Given the description of an element on the screen output the (x, y) to click on. 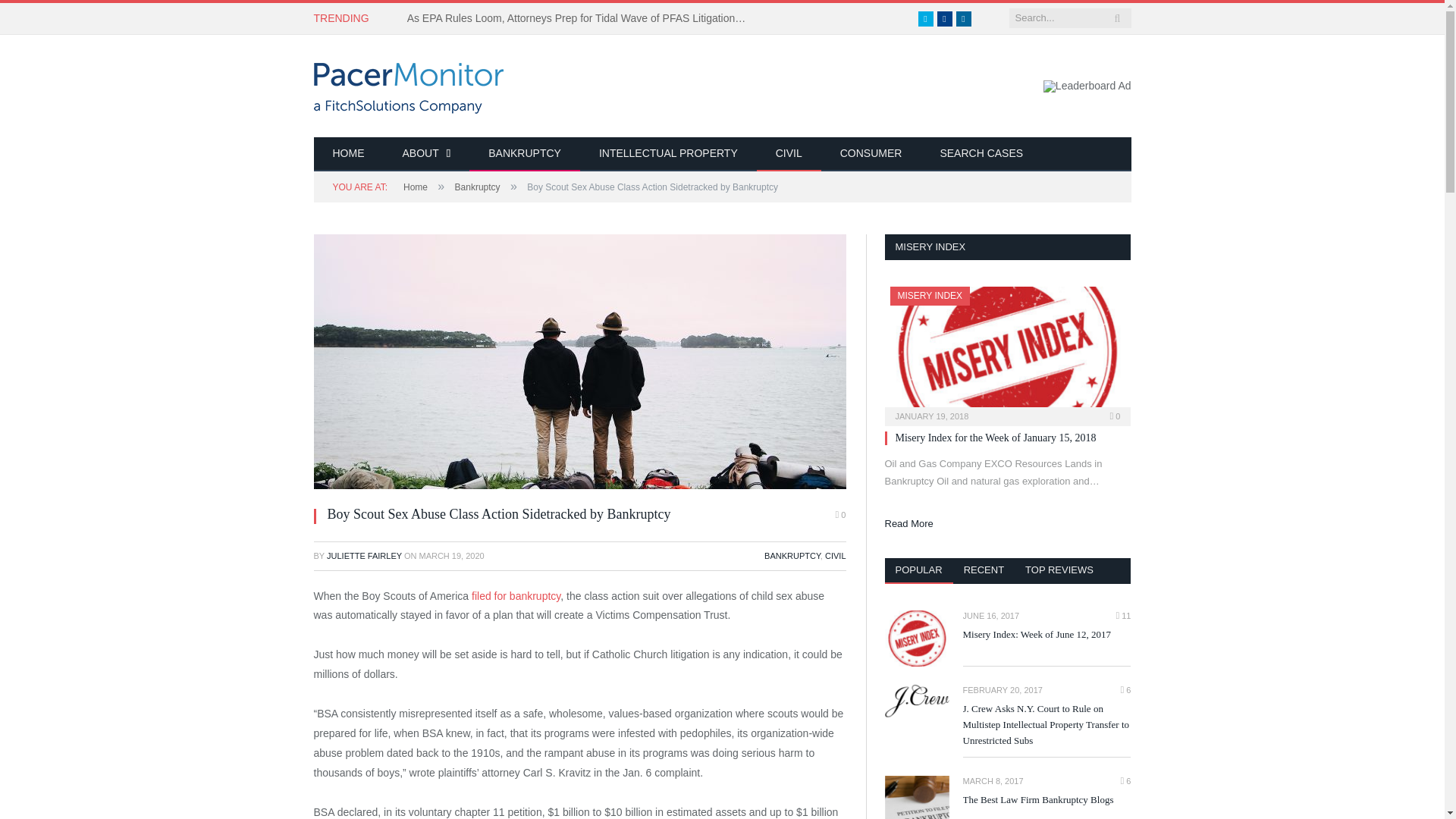
ABOUT (427, 154)
CIVIL (835, 555)
Bankruptcy (477, 186)
HOME (349, 154)
Home (415, 186)
Posts by Juliette Fairley (363, 555)
filed for bankruptcy (515, 595)
CONSUMER (871, 154)
LinkedIn (963, 18)
Facebook (944, 18)
Twitter (925, 18)
LinkedIn (963, 18)
SEARCH CASES (981, 154)
